Given the description of an element on the screen output the (x, y) to click on. 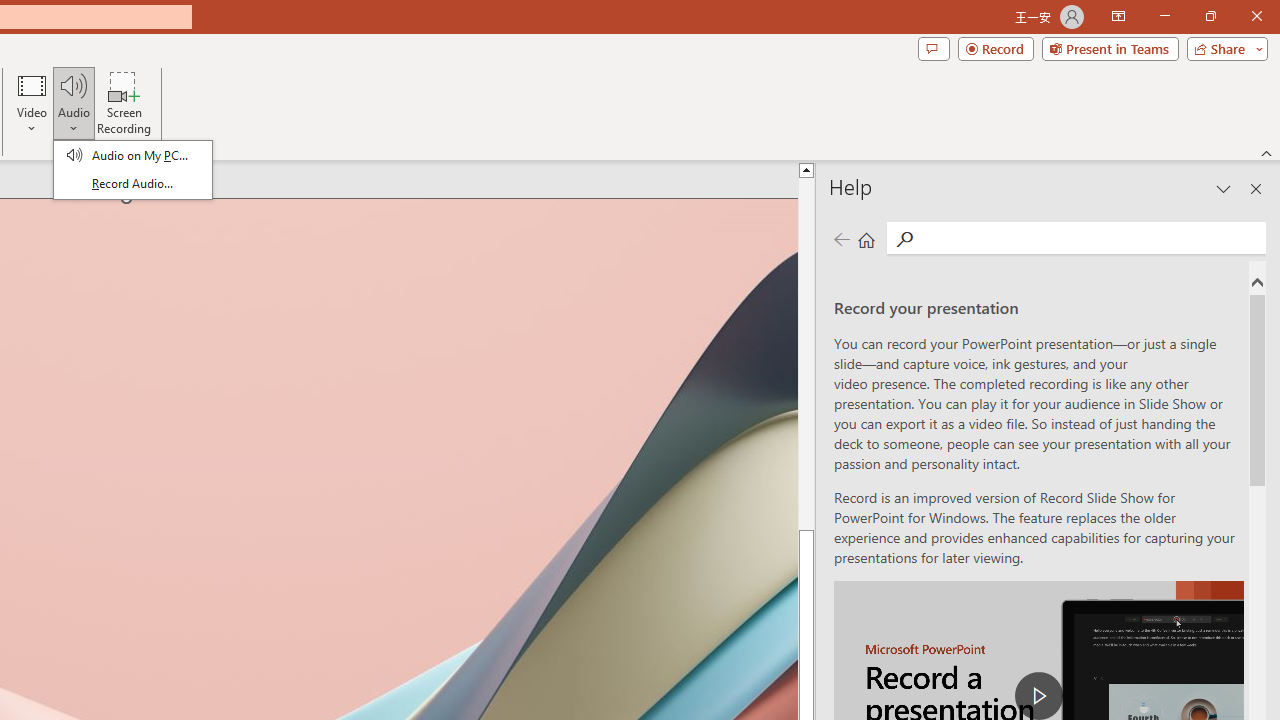
Video (31, 102)
Screen Recording... (123, 102)
Audi&o (132, 169)
play Record a Presentation (1038, 695)
